Given the description of an element on the screen output the (x, y) to click on. 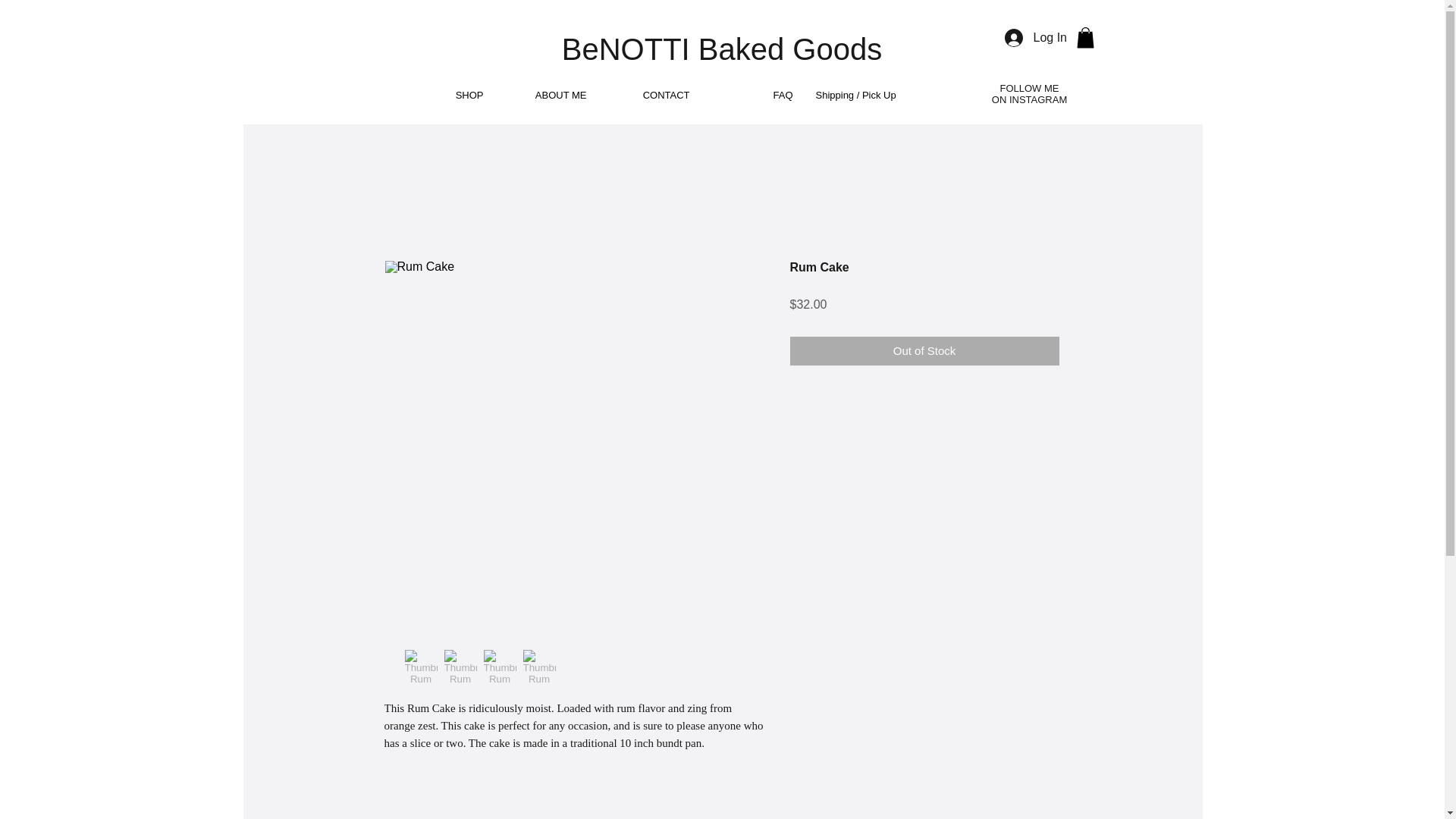
FAQ (751, 94)
Out of Stock (924, 351)
Log In (1033, 37)
SHOP (443, 94)
ABOUT ME (545, 94)
BeNOTTI Baked Goods (722, 49)
FOLLOW ME ON INSTAGRAM (1029, 93)
CONTACT (648, 94)
